Given the description of an element on the screen output the (x, y) to click on. 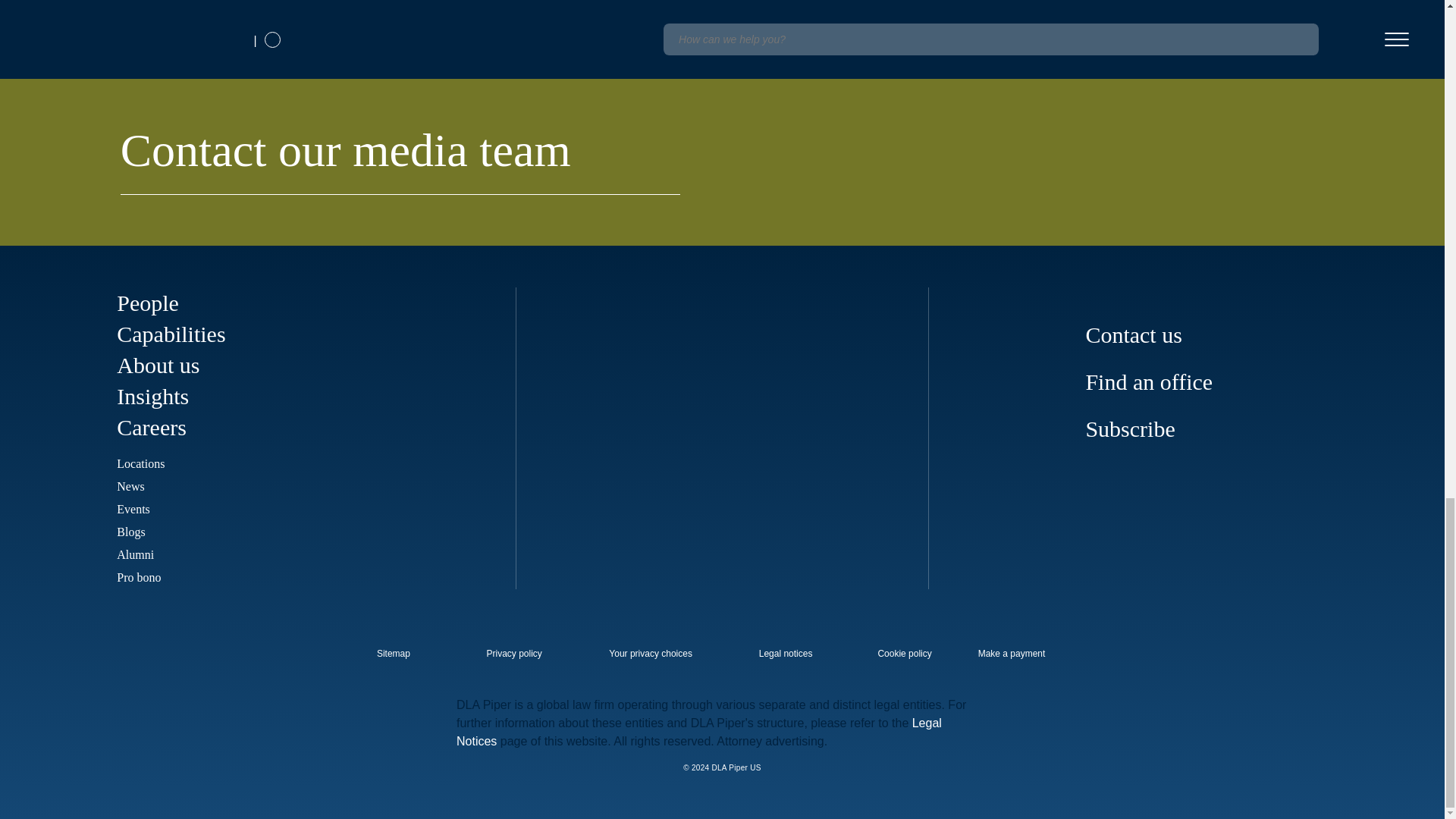
Locations (140, 463)
People (147, 302)
Structured Finance and Securitization (428, 20)
external (404, 649)
Alumni (135, 554)
internal (513, 653)
internal (904, 653)
Pro bono (138, 576)
About us (157, 364)
Media, Sport and Entertainment (133, 20)
